Given the description of an element on the screen output the (x, y) to click on. 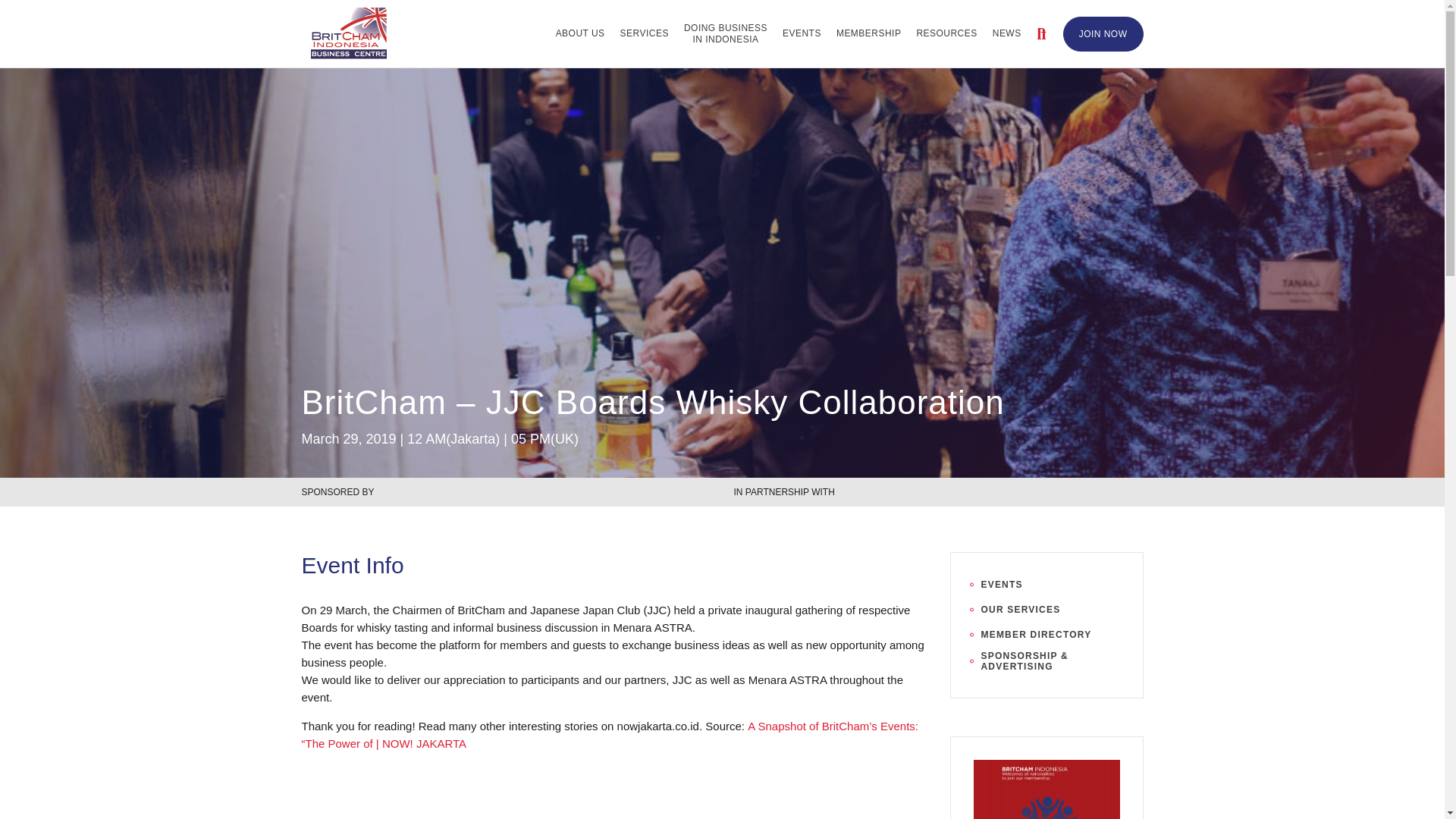
MEMBERSHIP (868, 33)
RESOURCES (946, 33)
ABOUT US (580, 33)
JOIN NOW (1102, 33)
EVENTS (725, 33)
SERVICES (801, 33)
NEWS (644, 33)
